Given the description of an element on the screen output the (x, y) to click on. 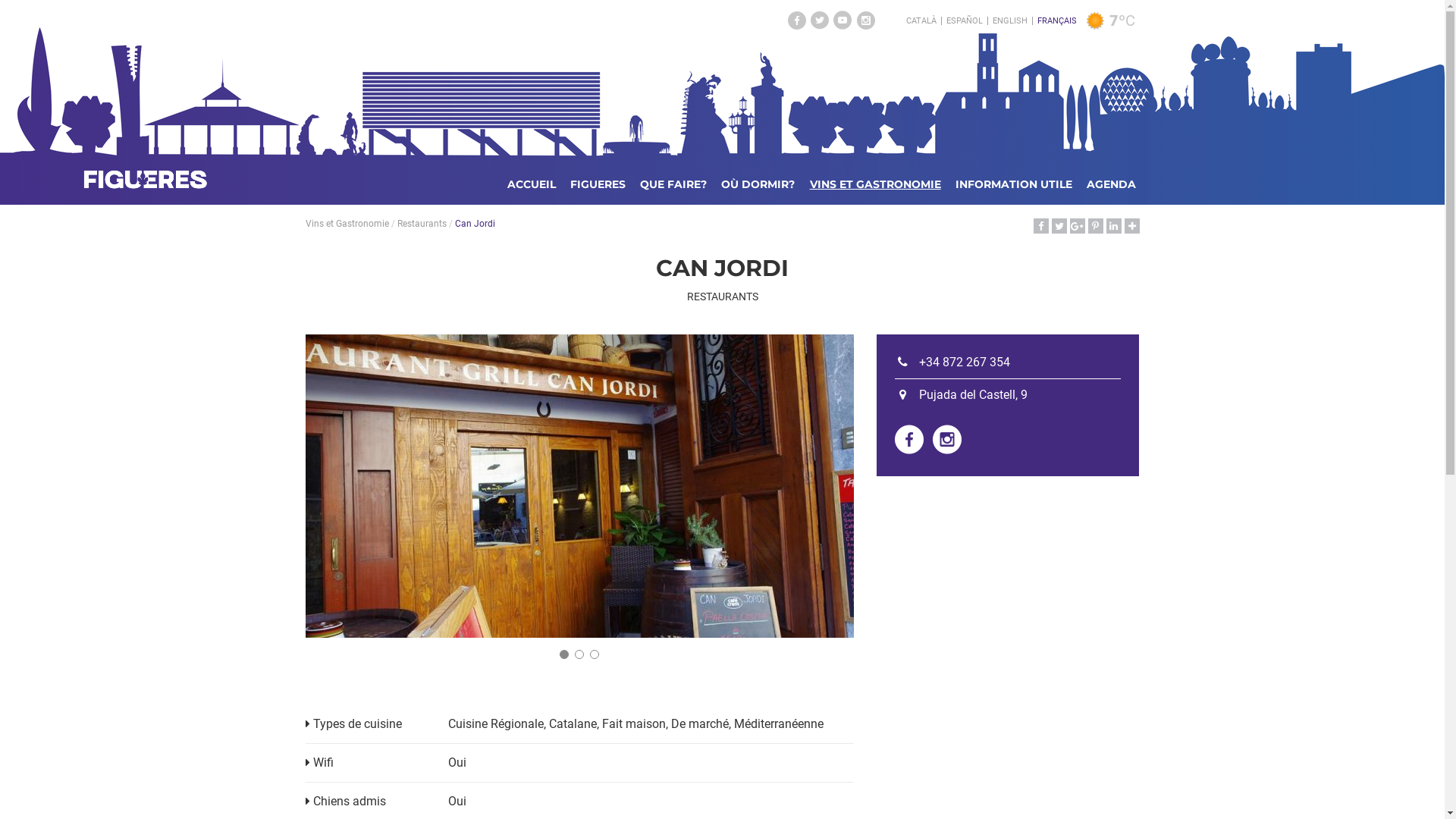
Vins et Gastronomie Element type: text (346, 223)
3 Element type: text (594, 653)
2 Element type: text (578, 653)
Restaurants Element type: text (421, 223)
FIGUERES Element type: text (597, 183)
ACCUEIL Element type: text (531, 183)
QUE FAIRE? Element type: text (673, 183)
Clear Element type: hover (1094, 20)
AGENDA Element type: text (1110, 183)
ENGLISH Element type: text (1009, 20)
INFORMATION UTILE Element type: text (1013, 183)
1 Element type: text (563, 653)
VINS ET GASTRONOMIE Element type: text (875, 183)
+34 872 267 354 Element type: text (952, 361)
